Given the description of an element on the screen output the (x, y) to click on. 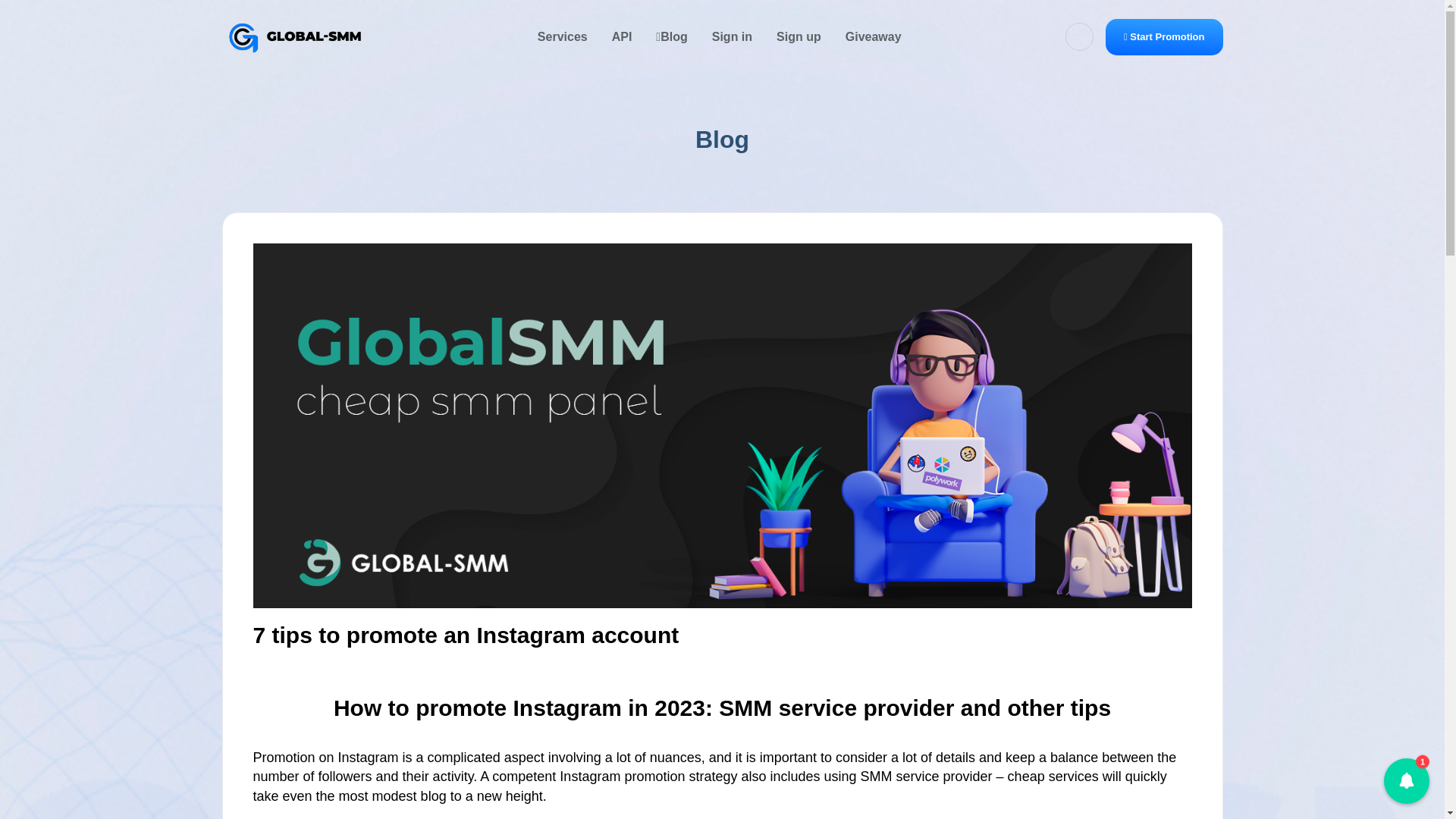
Services (562, 36)
 Start Promotion (1164, 36)
Sign up (798, 36)
Sign in (732, 36)
Giveaway (873, 36)
Blog (670, 36)
API (622, 36)
